Given the description of an element on the screen output the (x, y) to click on. 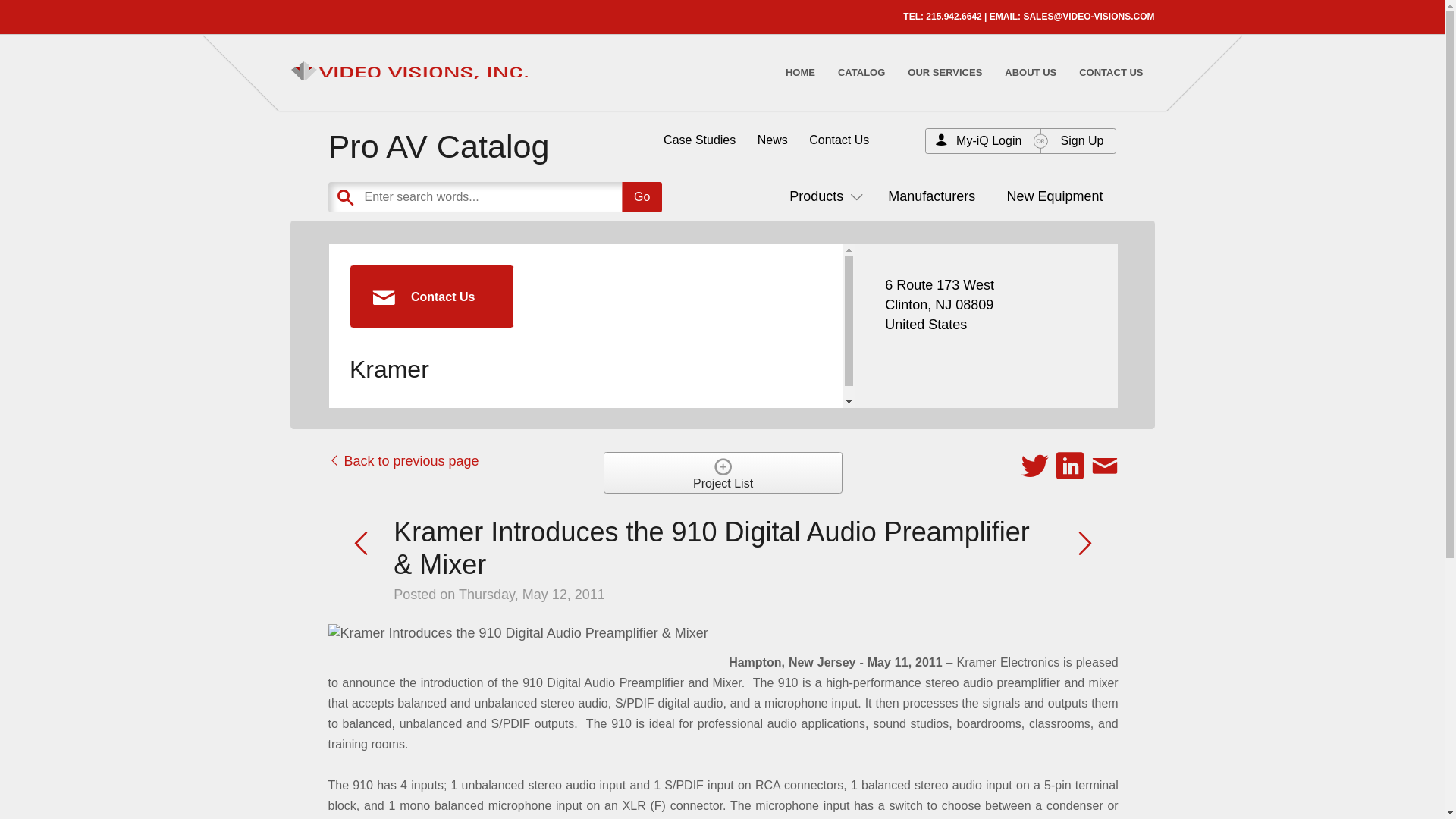
CATALOG (860, 72)
CONTACT US (1110, 72)
Contact Us (1110, 72)
Catalog (860, 72)
Go (641, 196)
ABOUT US (1030, 72)
Our Services (944, 72)
Enter search words... (531, 196)
Home (800, 72)
About Us (1030, 72)
